Given the description of an element on the screen output the (x, y) to click on. 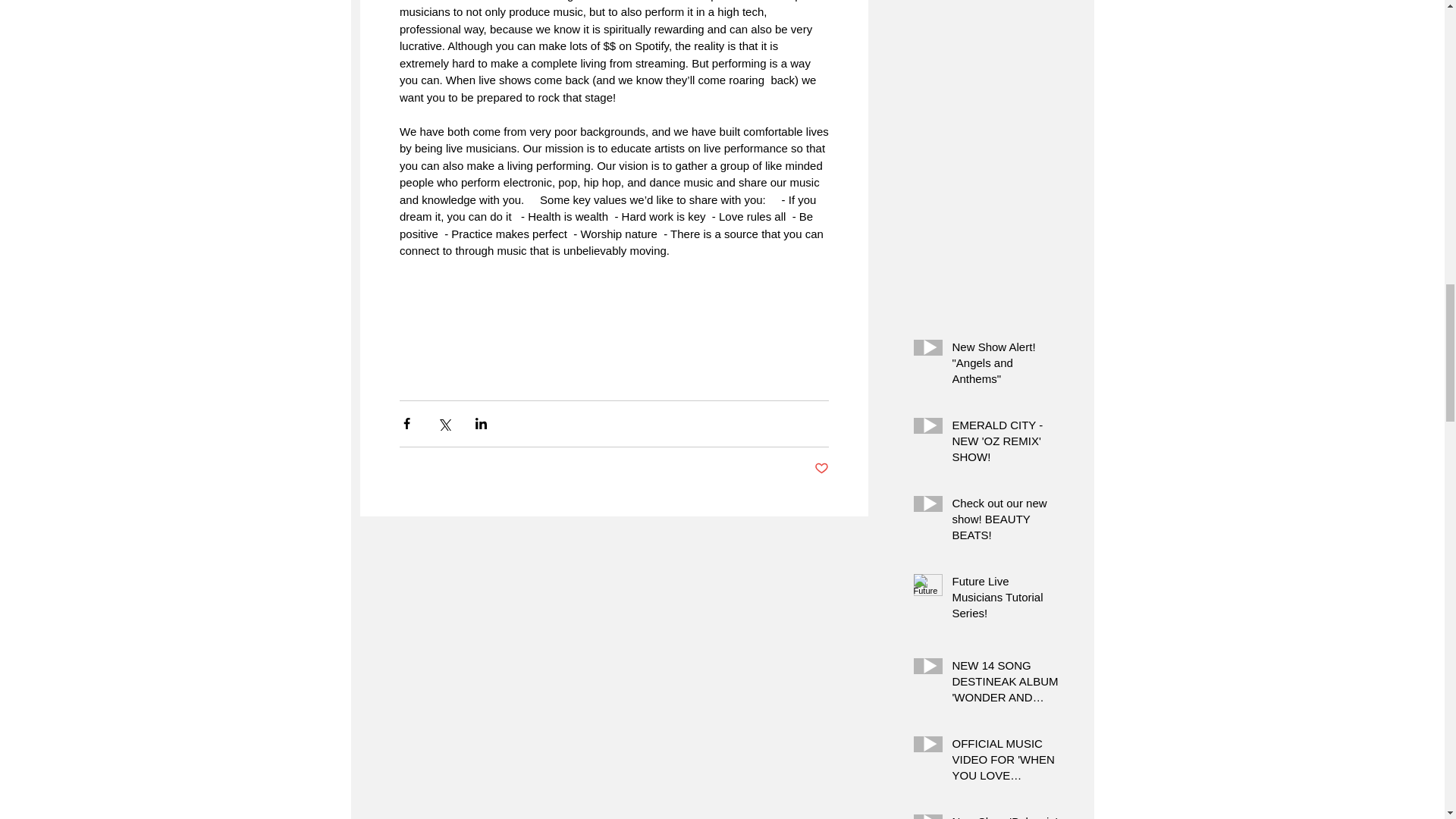
New Show Alert! "Angels and Anthems" (1006, 365)
Post not marked as liked (820, 468)
EMERALD CITY - NEW 'OZ REMIX' SHOW! (1006, 443)
